Given the description of an element on the screen output the (x, y) to click on. 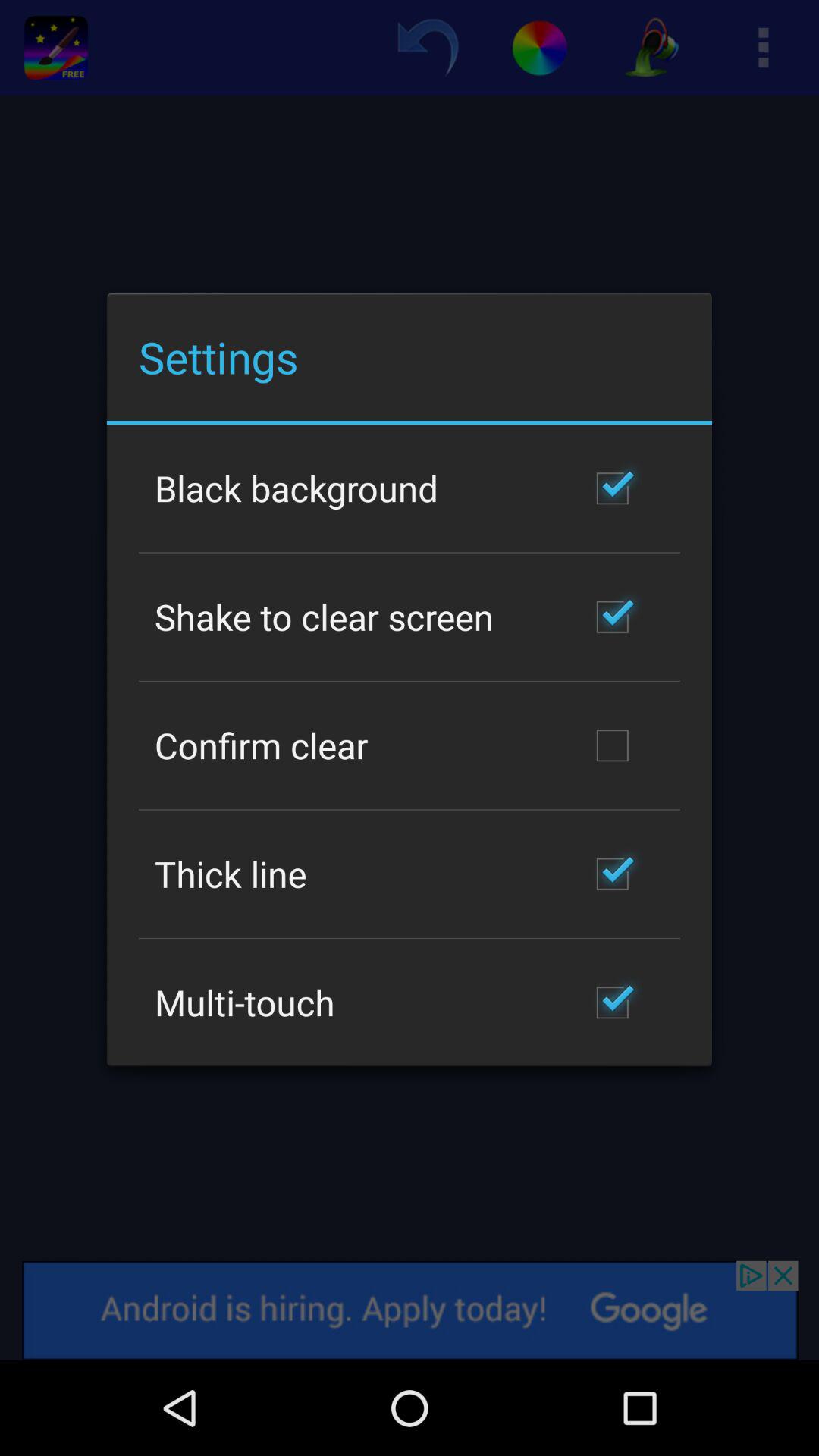
turn on thick line (230, 873)
